Given the description of an element on the screen output the (x, y) to click on. 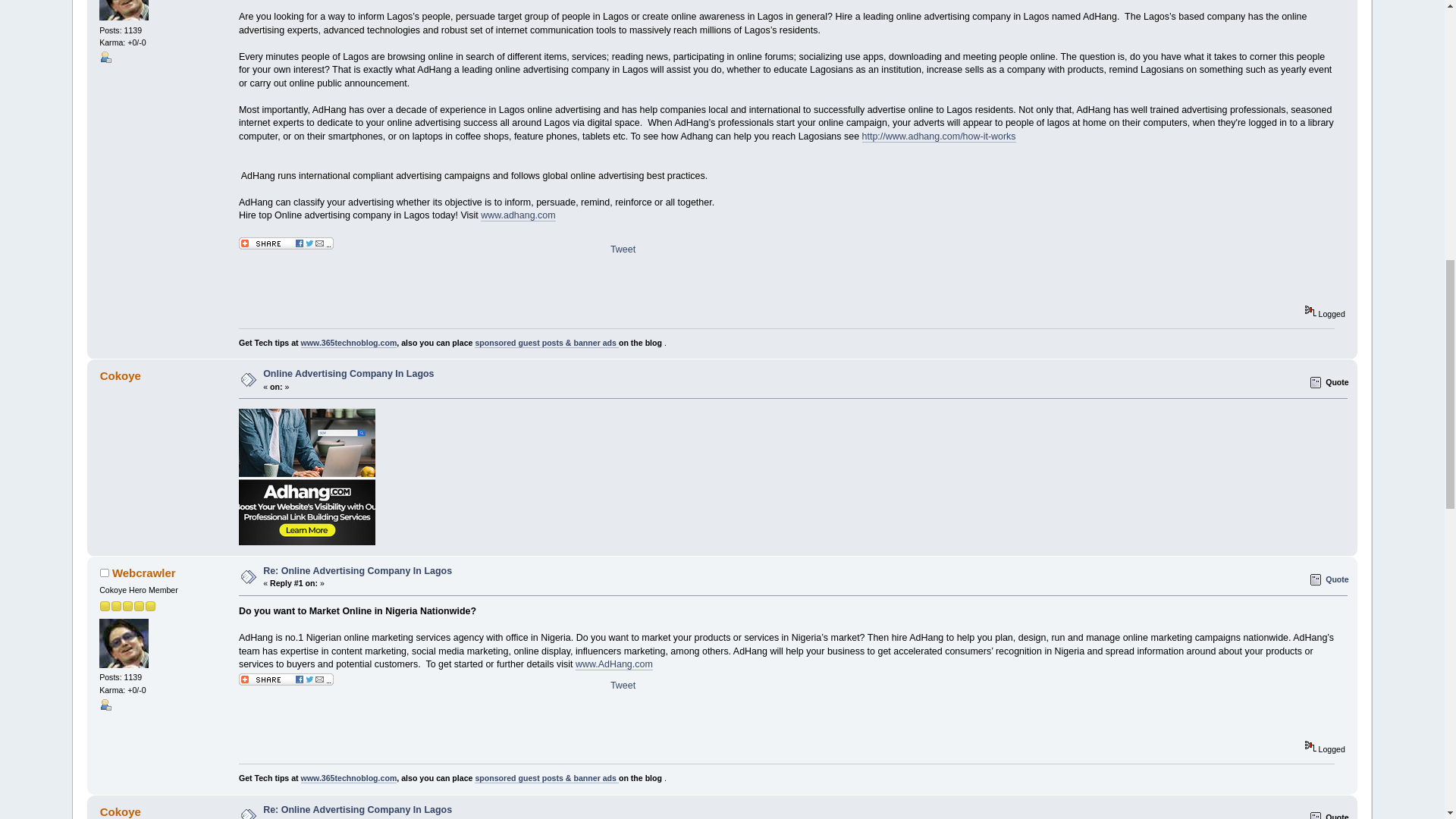
Tweet (622, 249)
www.365technoblog.com (349, 343)
View Profile (105, 56)
www.adhang.com (517, 215)
Online Advertising Company In Lagos (348, 373)
View Profile (105, 704)
View the profile of Webcrawler (144, 572)
